Given the description of an element on the screen output the (x, y) to click on. 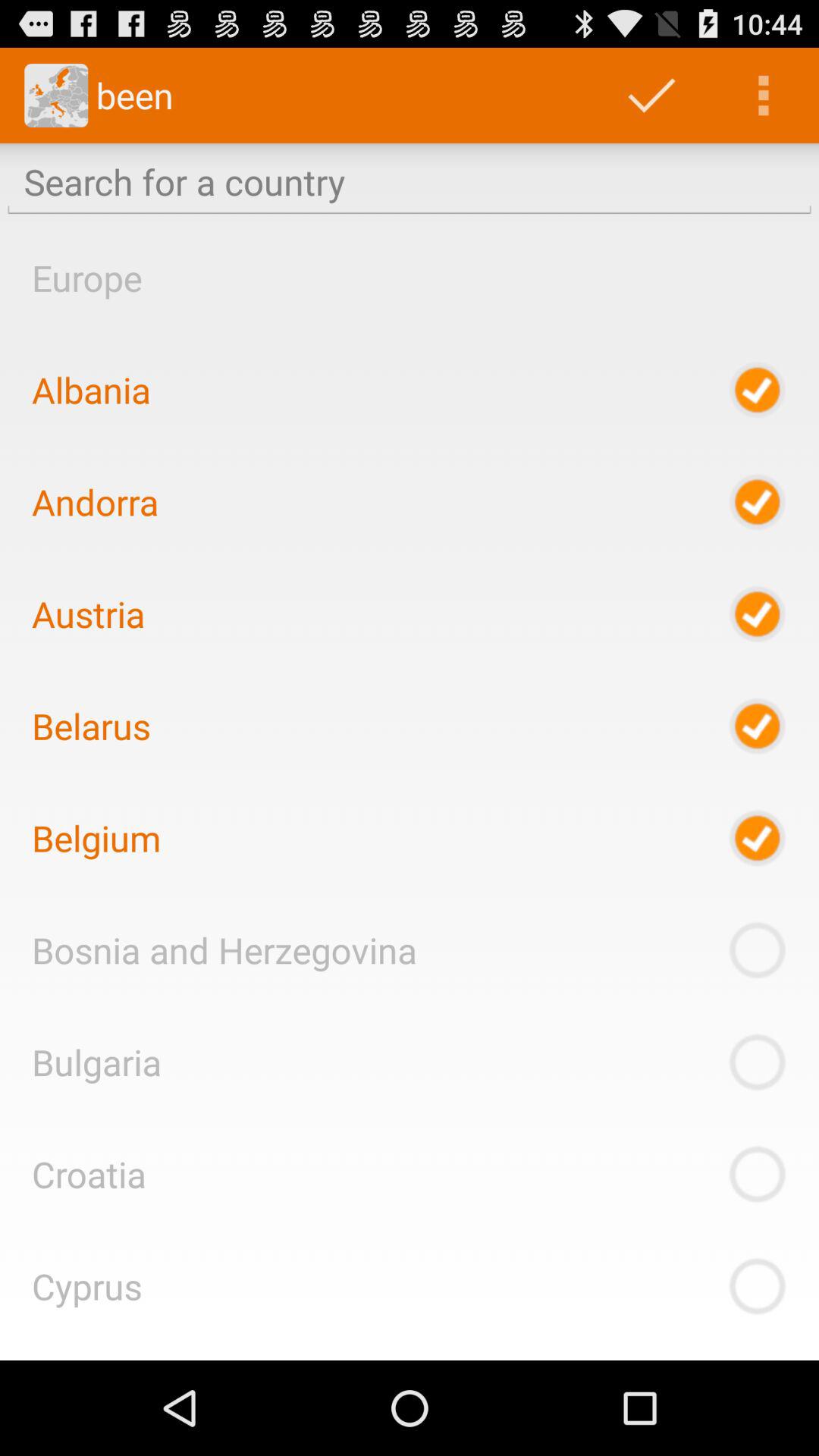
flip until the austria item (88, 613)
